Given the description of an element on the screen output the (x, y) to click on. 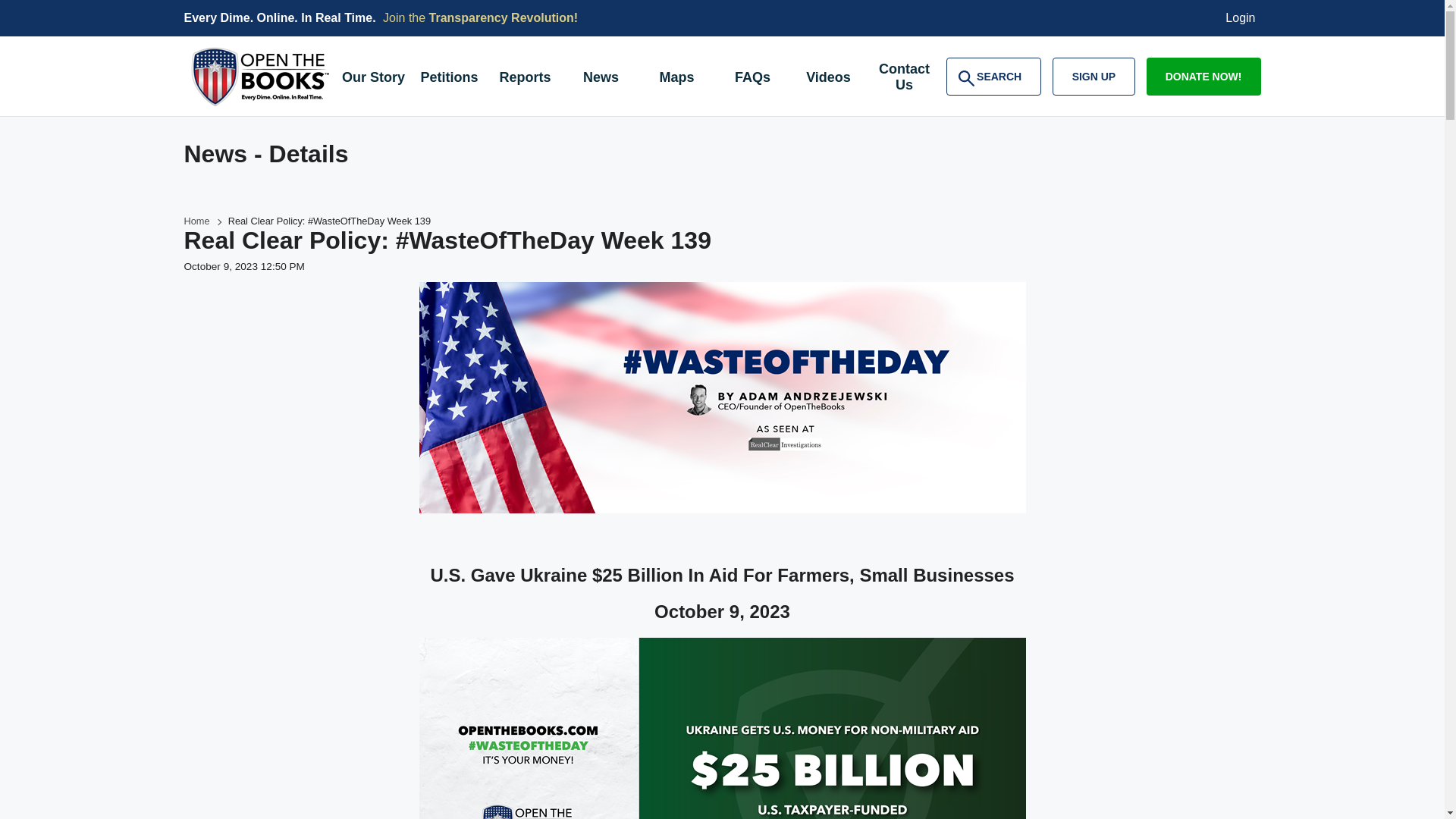
Home (196, 220)
SIGN UP (1093, 76)
DONATE NOW! (1203, 76)
Reports (524, 78)
Petitions (448, 78)
Transparency Revolution! (503, 17)
Contact Us (904, 78)
Our Story (372, 78)
News (600, 78)
Videos (828, 78)
Maps (676, 78)
Login (993, 76)
FAQs (1240, 18)
